Given the description of an element on the screen output the (x, y) to click on. 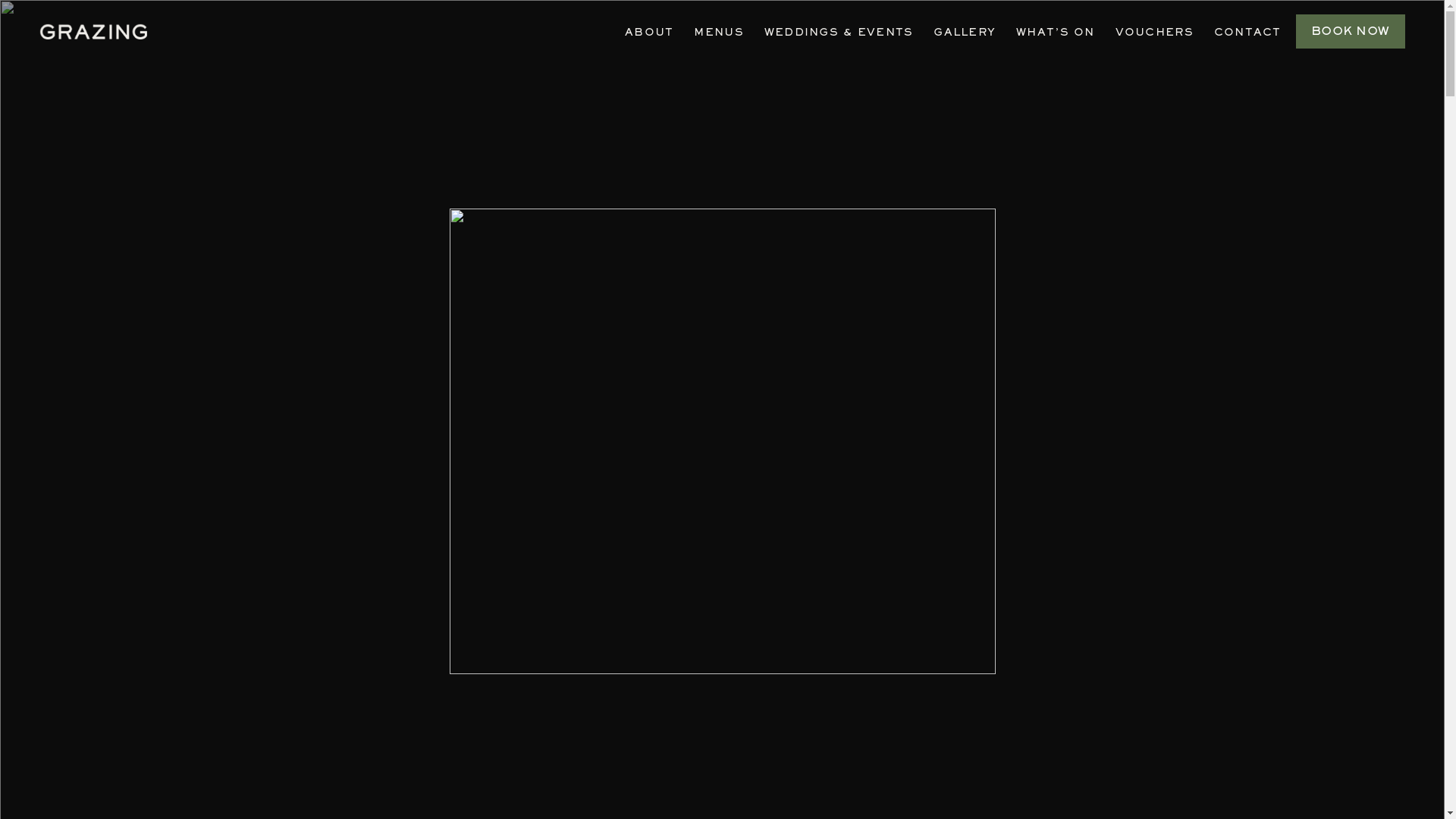
CONTACT Element type: text (1247, 32)
WEDDINGS & EVENTS Element type: text (838, 32)
ABOUT Element type: text (648, 32)
BOOK NOW Element type: text (1350, 31)
GALLERY Element type: text (964, 32)
VOUCHERS Element type: text (1154, 32)
MENUS Element type: text (718, 32)
